Given the description of an element on the screen output the (x, y) to click on. 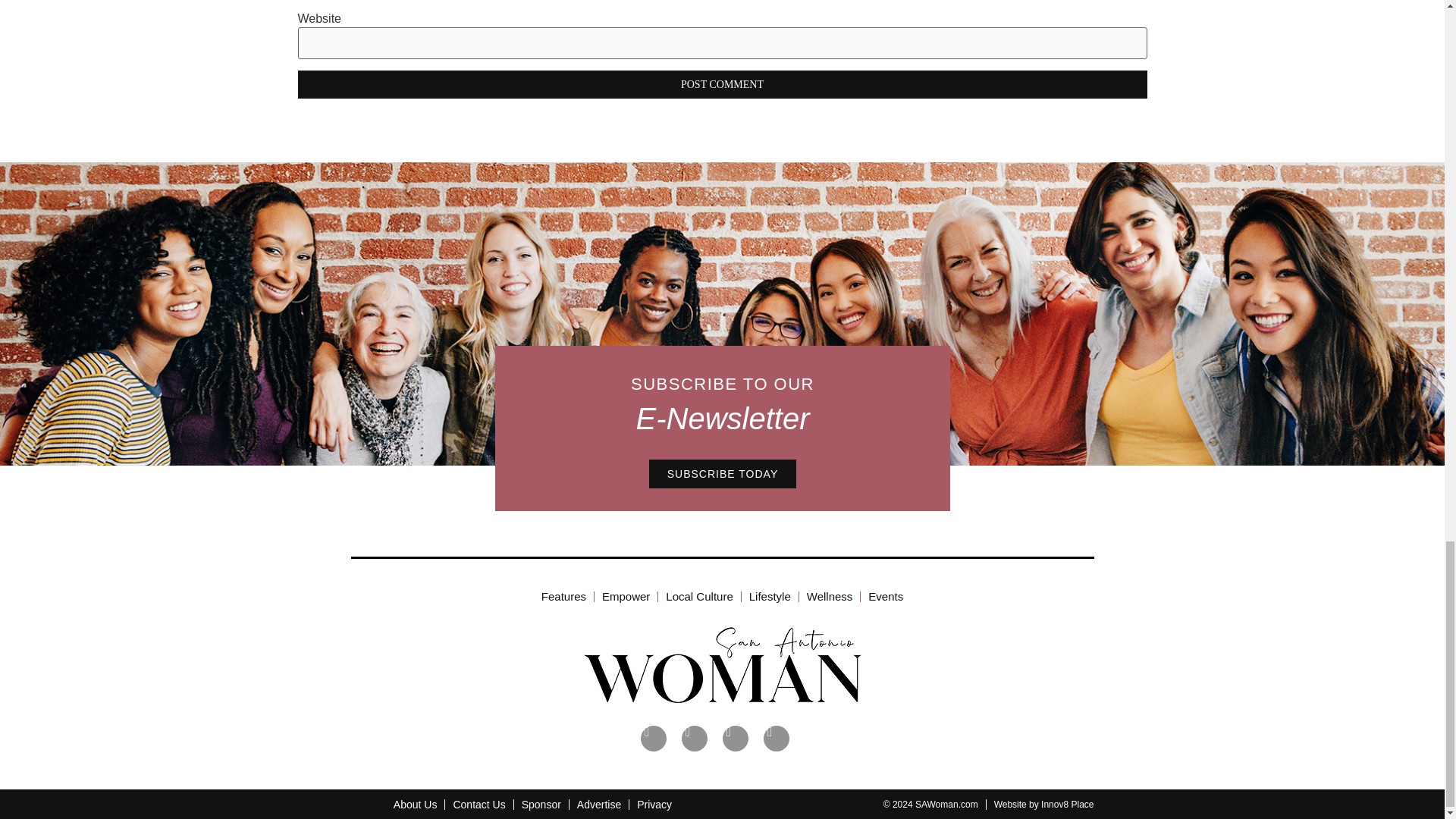
Post Comment (722, 84)
